Given the description of an element on the screen output the (x, y) to click on. 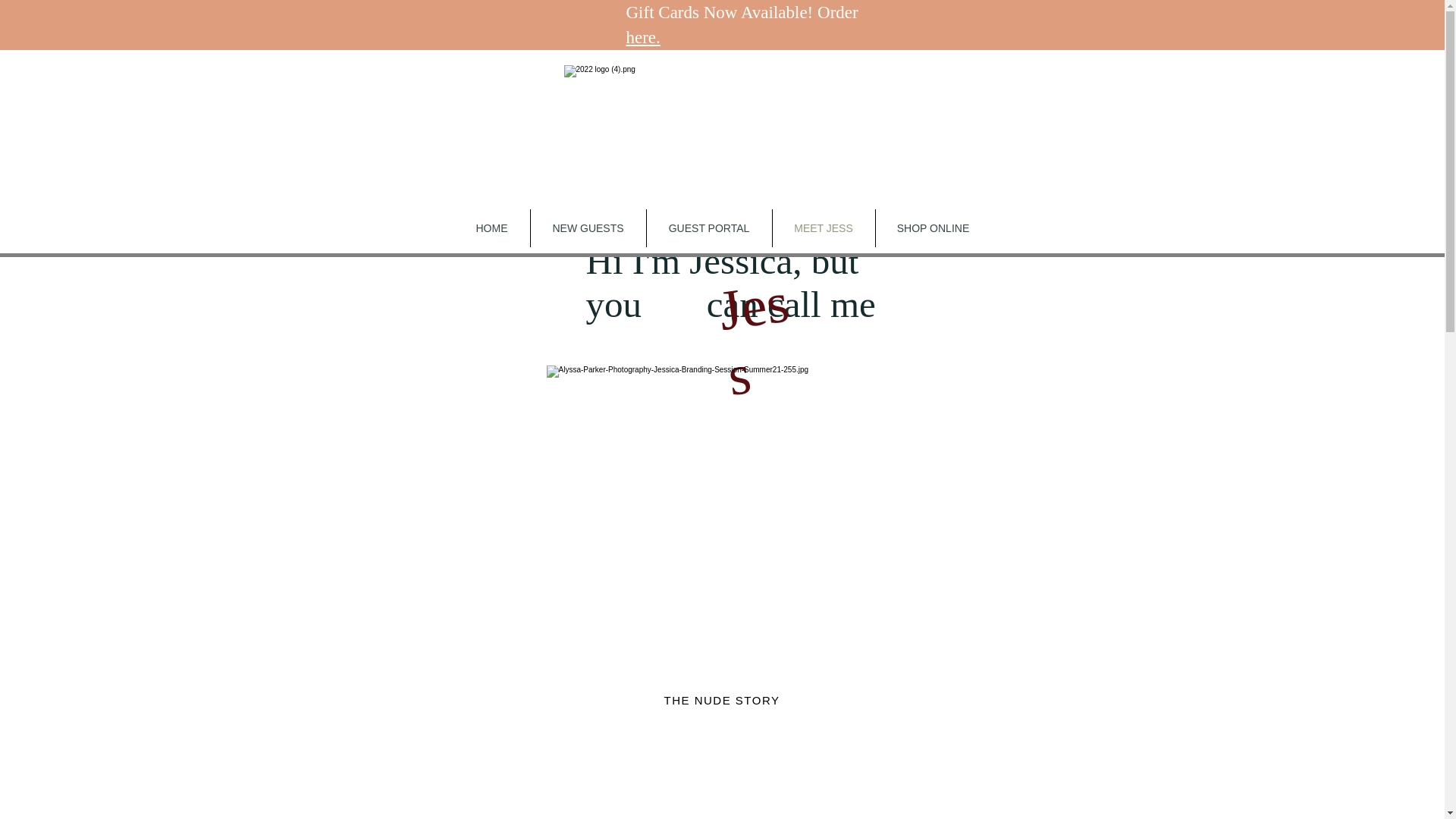
SHOP ONLINE (932, 228)
HOME (490, 228)
MEET JESS (823, 228)
NEW GUESTS (588, 228)
GUEST PORTAL (708, 228)
here. (643, 36)
